Given the description of an element on the screen output the (x, y) to click on. 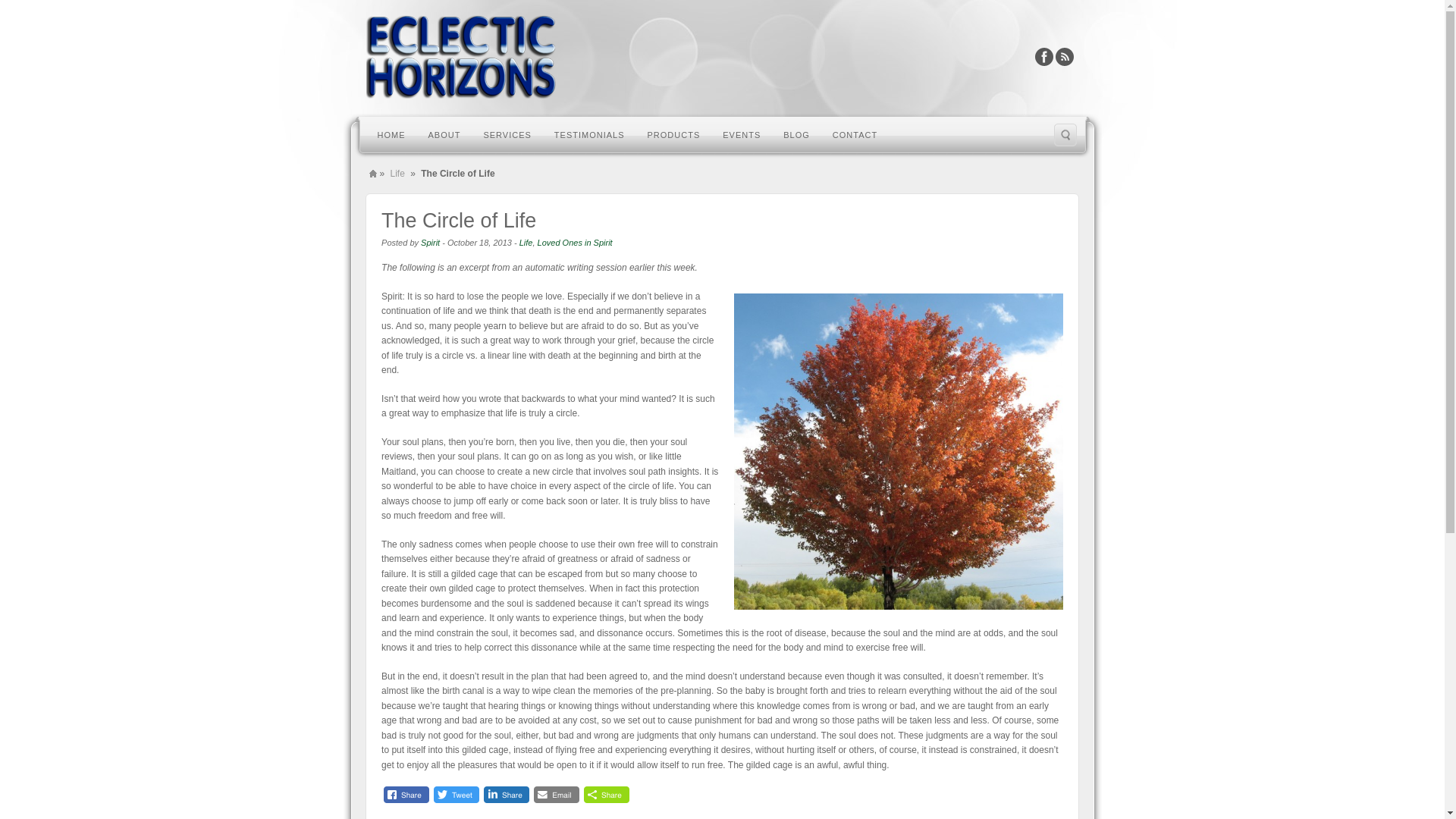
EVENTS (741, 134)
Facebook (1042, 56)
HOME (390, 134)
Life (397, 173)
Life (525, 242)
Search the site... (1065, 134)
Spirit (429, 242)
BLOG (796, 134)
SERVICES (506, 134)
Eclectic Horizons (459, 56)
